Given the description of an element on the screen output the (x, y) to click on. 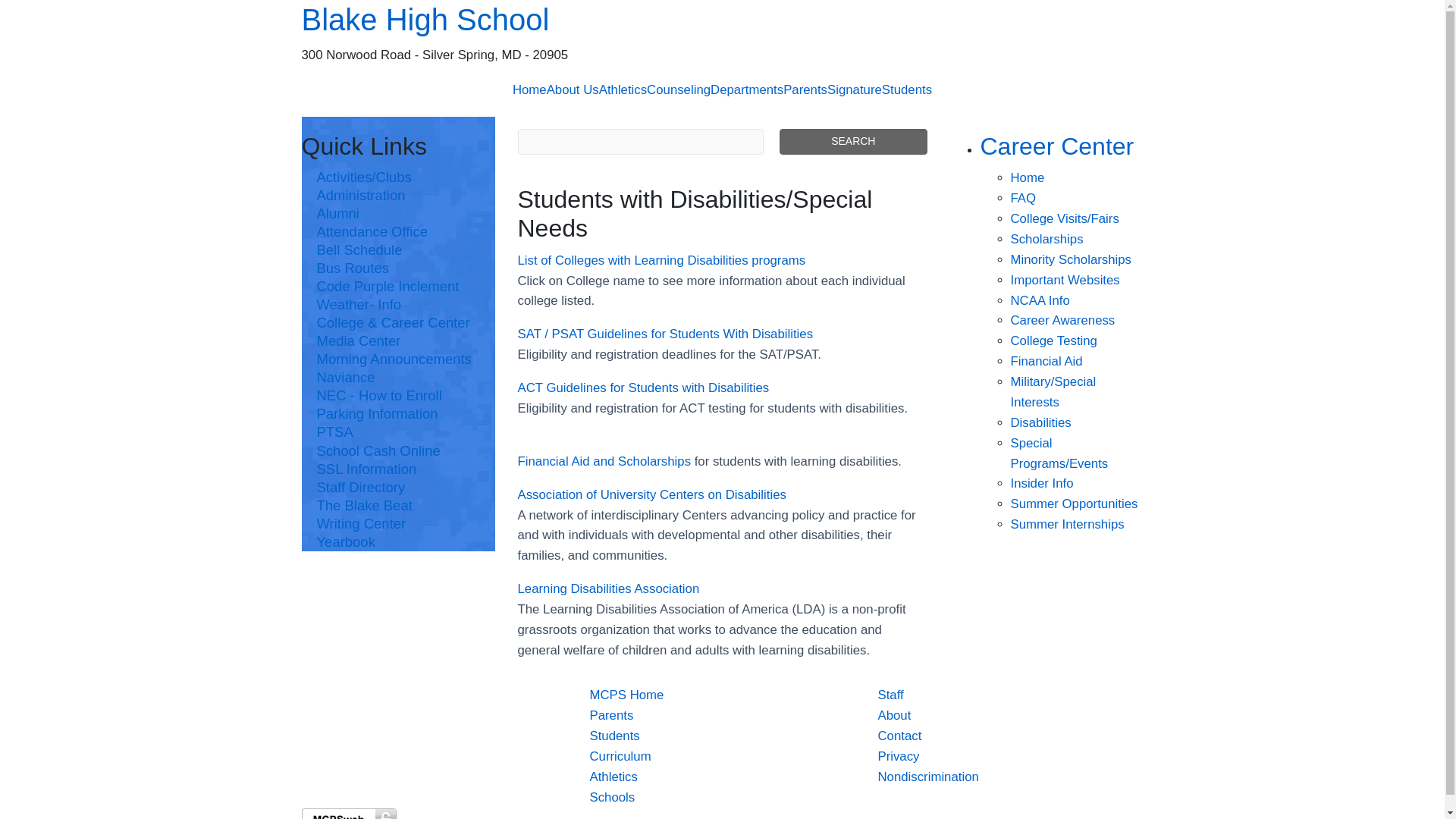
NEC - How to Enroll (398, 395)
List of Colleges with Learning Disabilities programs (660, 260)
Staff Directory (398, 487)
Yearbook (398, 542)
Financial Aid and Scholarships (603, 461)
Blake High School  (721, 19)
Home (1026, 177)
Alumni (398, 213)
Media Center (398, 341)
Parking Information (398, 413)
Counseling (678, 89)
Career Center (1056, 145)
Blake High School (721, 19)
Departments (746, 89)
Learning Disabilities Association (607, 588)
